Given the description of an element on the screen output the (x, y) to click on. 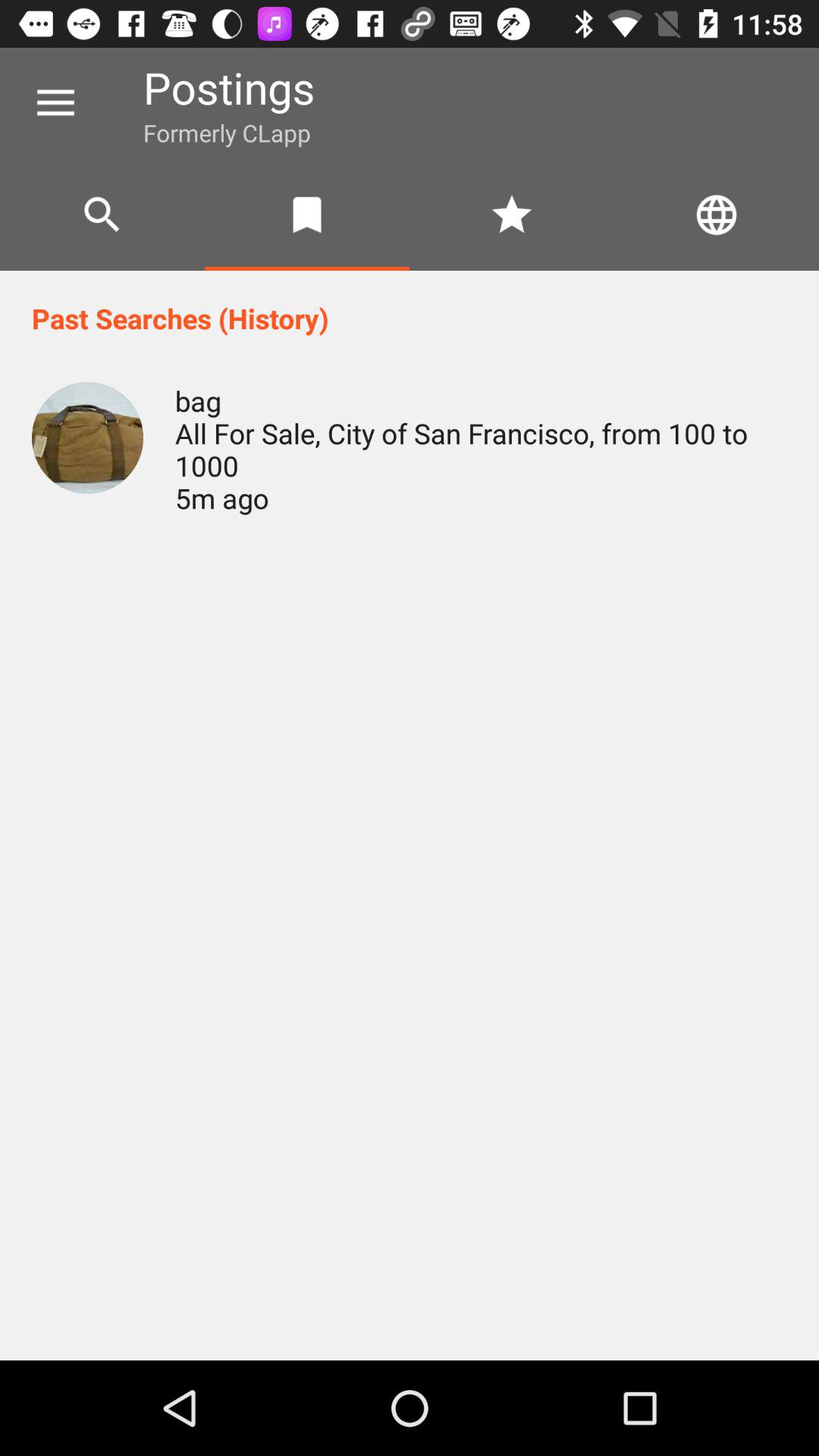
select icon to the left of bag all for (87, 437)
